Given the description of an element on the screen output the (x, y) to click on. 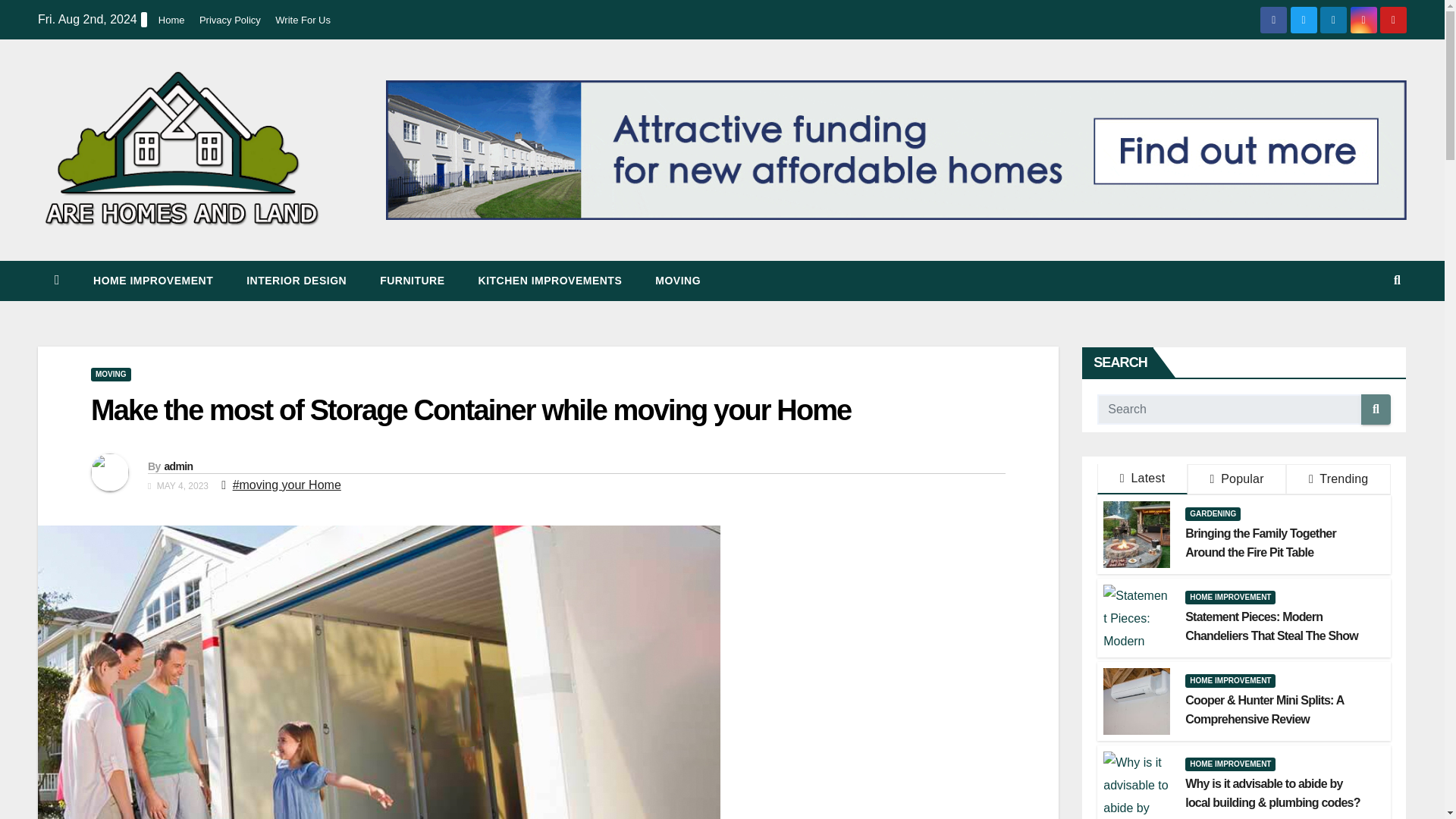
FURNITURE (411, 280)
Home (171, 19)
Kitchen Improvements (550, 280)
KITCHEN IMPROVEMENTS (550, 280)
Furniture (411, 280)
admin (177, 466)
INTERIOR DESIGN (296, 280)
MOVING (678, 280)
Privacy Policy (229, 19)
MOVING (110, 374)
Write For Us (302, 19)
Moving (678, 280)
Home Improvement (153, 280)
Make the most of Storage Container while moving your Home (470, 409)
